Given the description of an element on the screen output the (x, y) to click on. 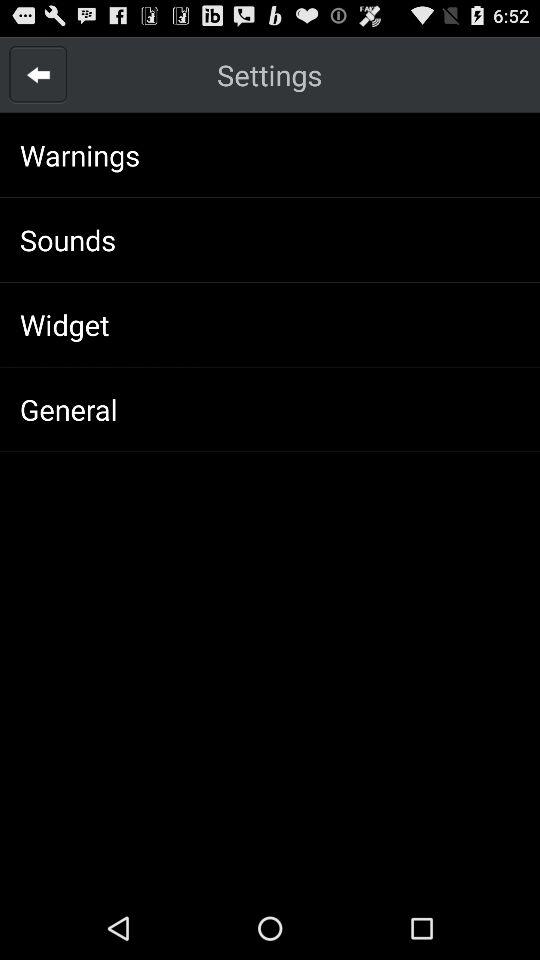
open the warnings icon (79, 154)
